Given the description of an element on the screen output the (x, y) to click on. 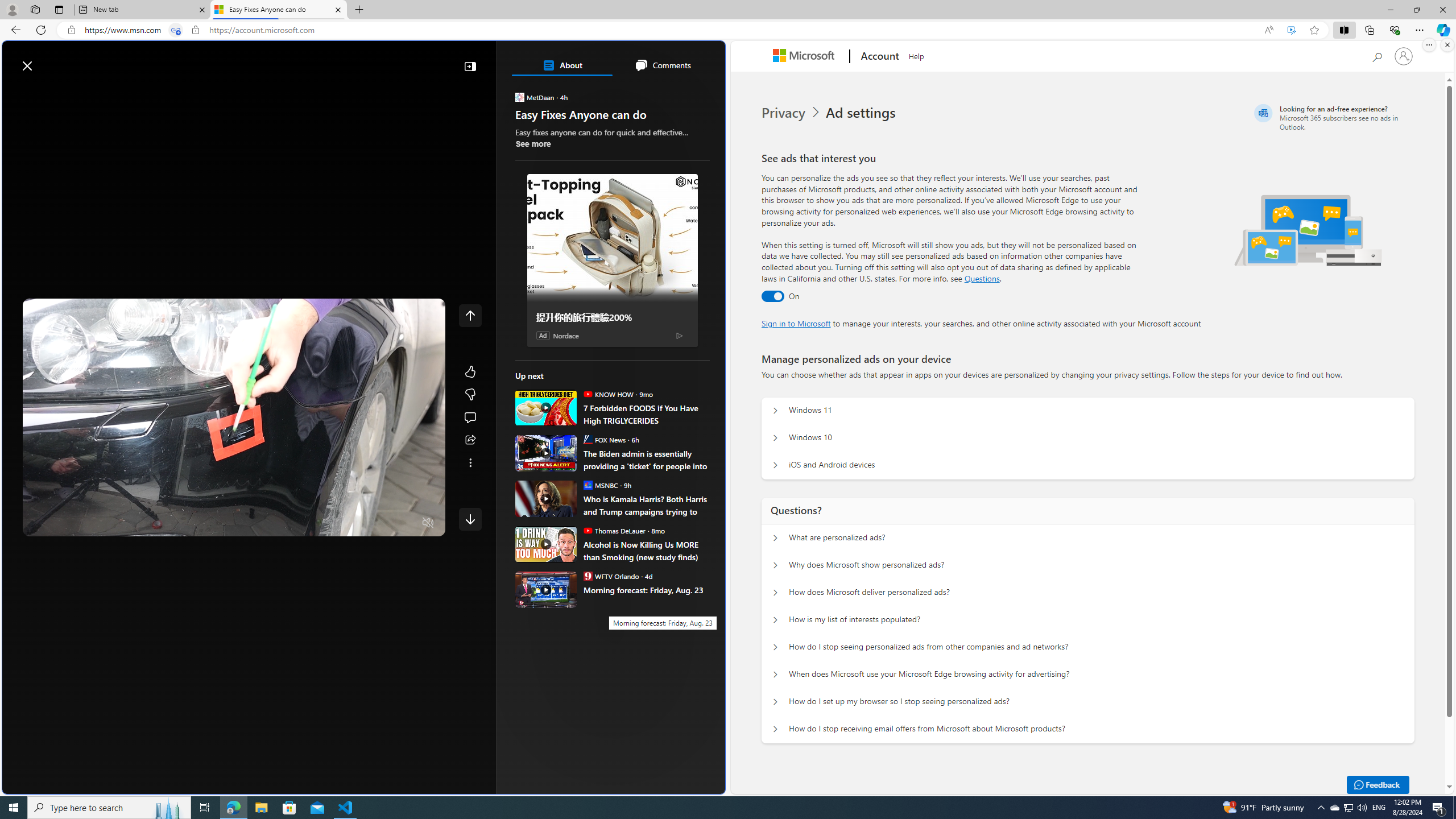
7 Forbidden FOODS if You Have High TRIGLYCERIDES (545, 407)
More like thisFewer like thisStart the conversation (469, 394)
KNOW HOW KNOW HOW (607, 393)
About (561, 64)
Sign in to your account (1404, 55)
